Given the description of an element on the screen output the (x, y) to click on. 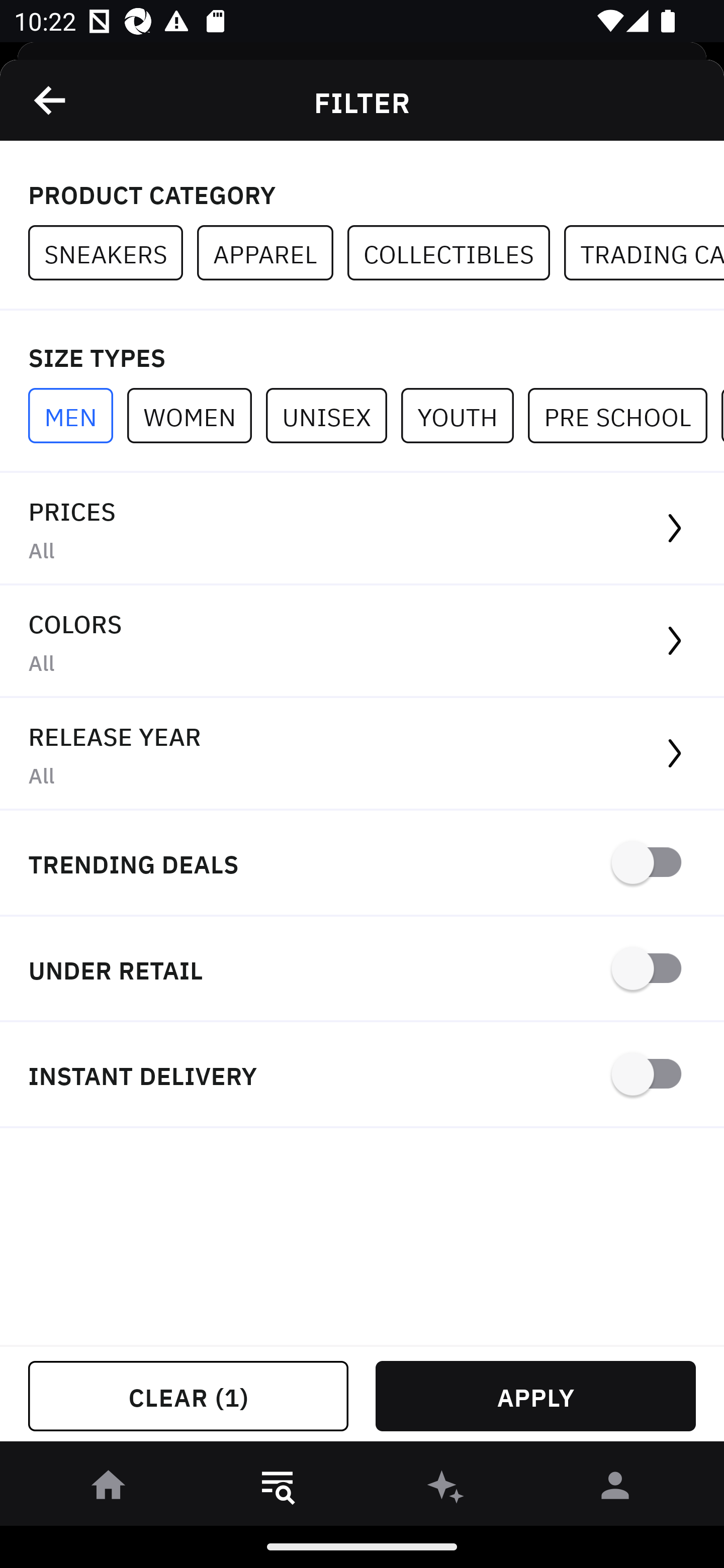
 (50, 100)
SNEAKERS (112, 252)
APPAREL (271, 252)
COLLECTIBLES (455, 252)
TRADING CARDS (643, 252)
MEN (77, 415)
WOMEN (196, 415)
UNISEX (333, 415)
YOUTH (464, 415)
PRE SCHOOL (624, 415)
PRICES All (362, 528)
COLORS All (362, 640)
RELEASE YEAR All (362, 753)
TRENDING DEALS (362, 863)
UNDER RETAIL (362, 969)
INSTANT DELIVERY (362, 1075)
CLEAR (1) (188, 1396)
APPLY (535, 1396)
󰋜 (108, 1488)
󱎸 (277, 1488)
󰫢 (446, 1488)
󰀄 (615, 1488)
